Given the description of an element on the screen output the (x, y) to click on. 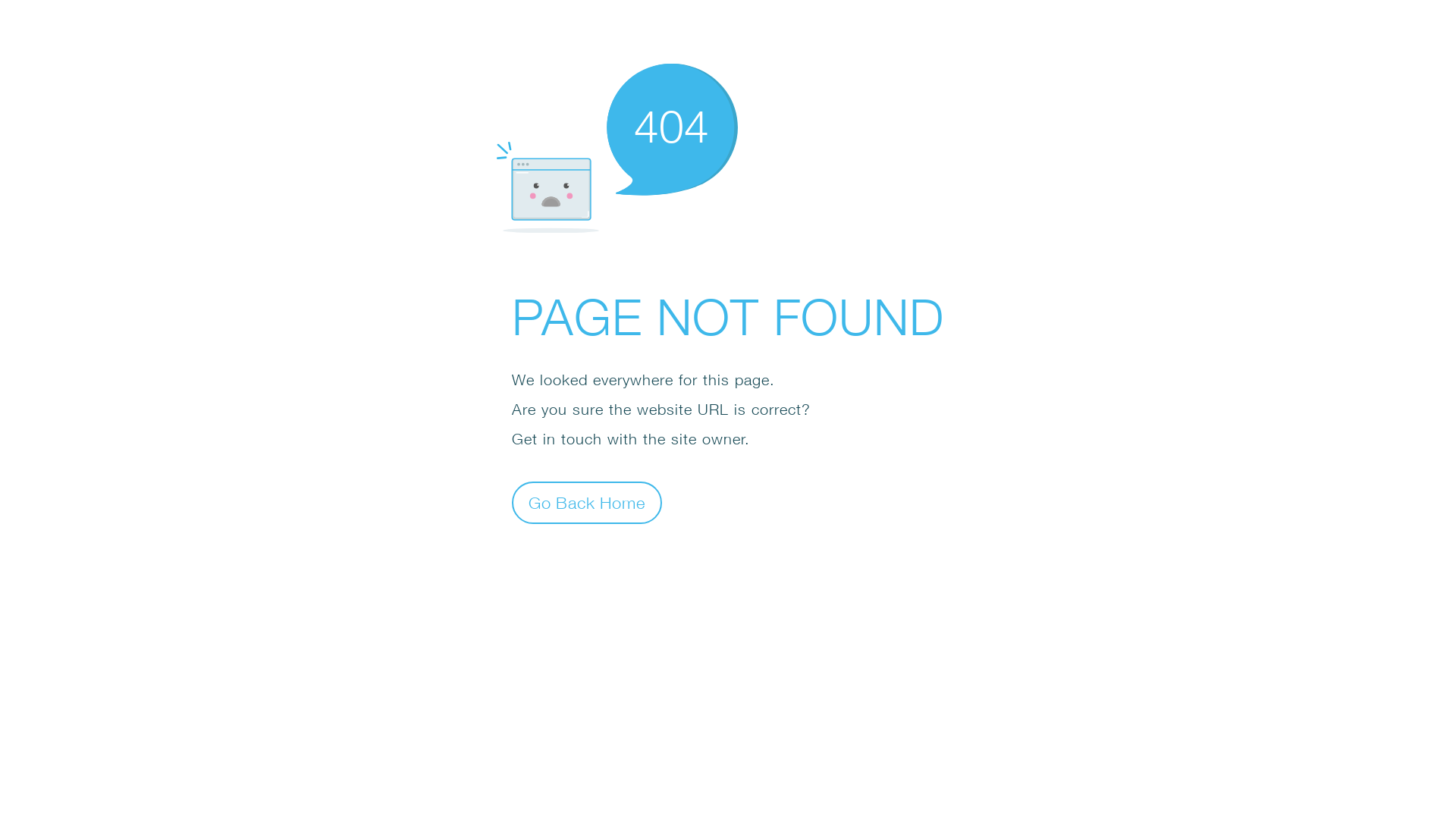
Go Back Home Element type: text (586, 502)
